Given the description of an element on the screen output the (x, y) to click on. 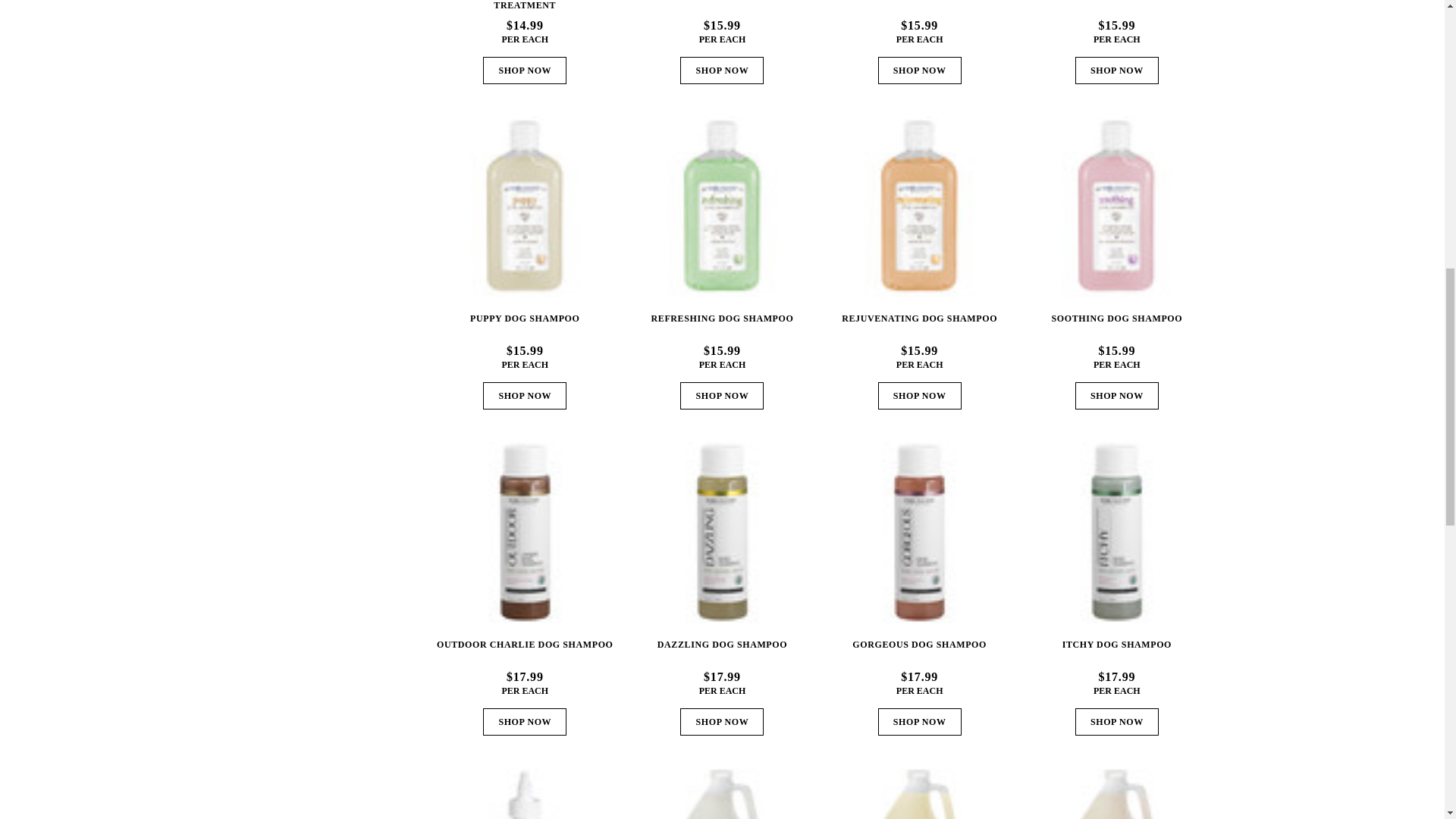
Dazzling Dog Shampoo (721, 531)
Itchy Dog Shampoo (1116, 531)
Gorgeous Dog Shampoo (919, 531)
Rejuvenating Dog Shampoo (919, 206)
Refreshing Dog Shampoo (721, 206)
Puppy Dog Shampoo (524, 206)
Outdoor Charlie Dog Shampoo (524, 531)
Ear Cleaner (524, 793)
Soothing Dog Shampoo (1116, 206)
